Given the description of an element on the screen output the (x, y) to click on. 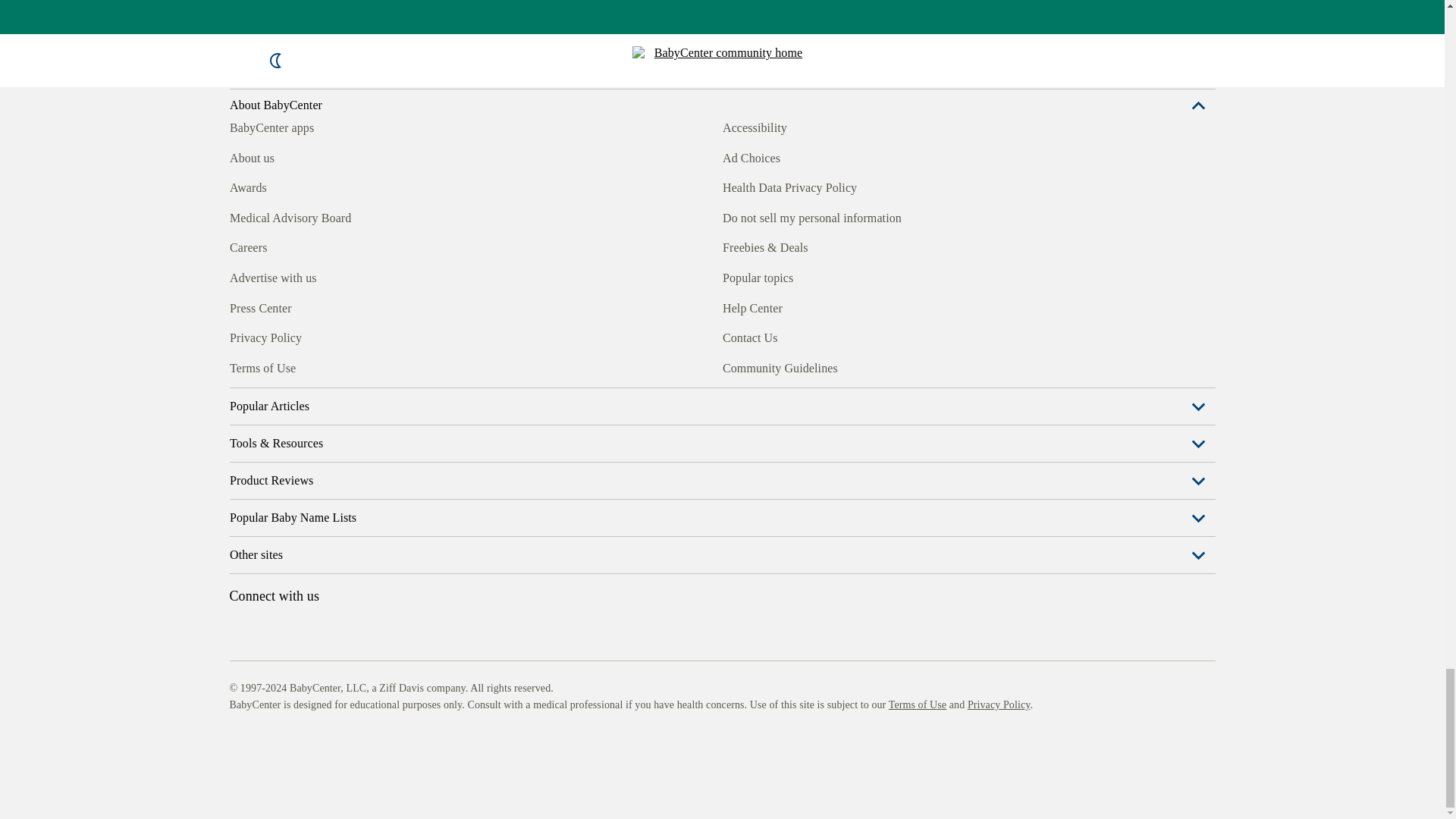
BabyCenter Pinterest board (309, 759)
BabyCenter Instagram feed (274, 759)
BabyCenter YouTube channel (344, 759)
BabyCenter Facebook page (239, 759)
BabyCenter Twitter feed (379, 759)
